Given the description of an element on the screen output the (x, y) to click on. 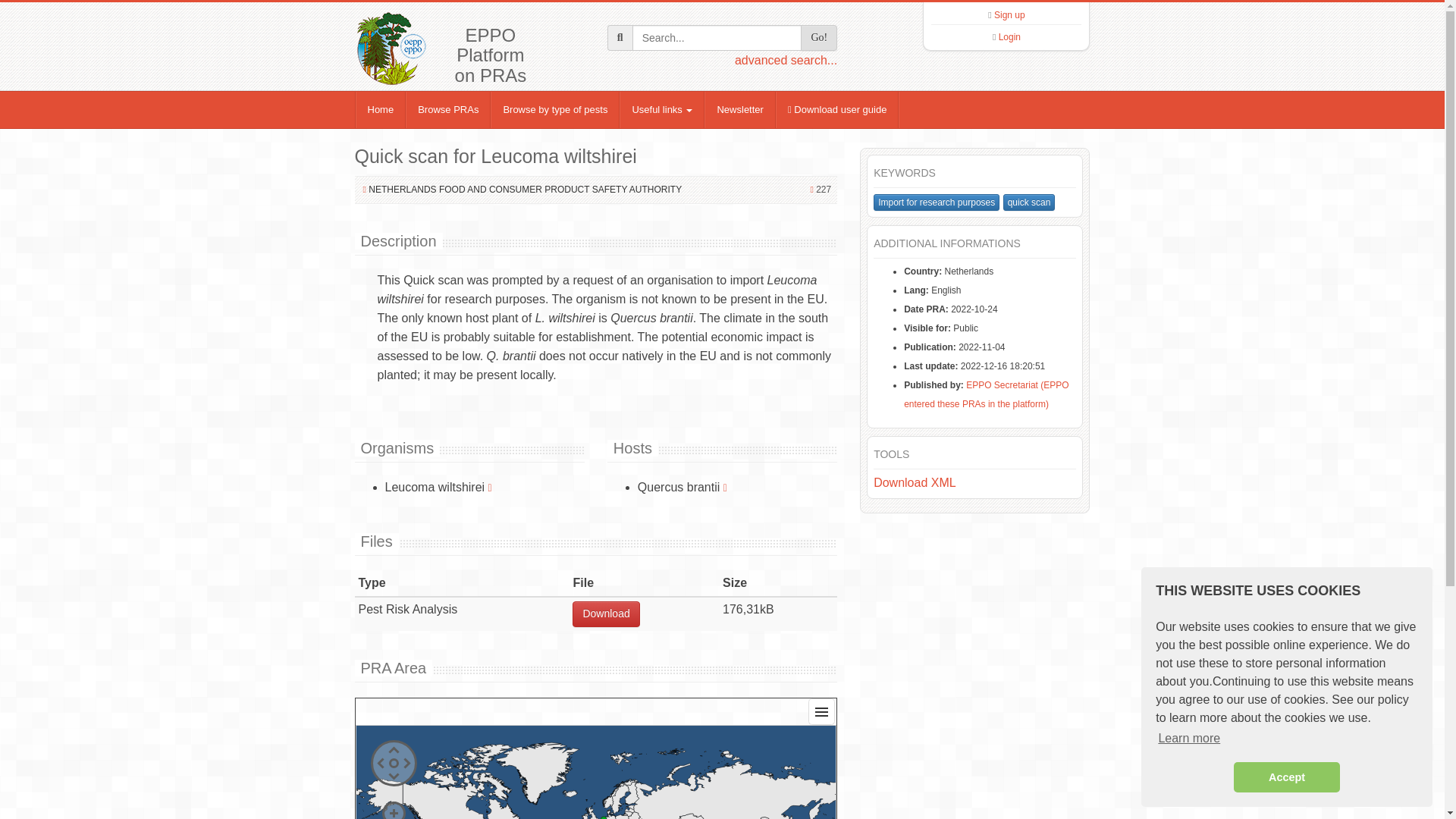
Sign up (1009, 14)
Login (1009, 36)
Download XML (914, 481)
Home (380, 109)
advanced search... (786, 60)
Go! (818, 37)
Accept (1286, 777)
quick scan (1029, 202)
Useful links (662, 109)
View other PRAs (489, 486)
Newsletter (739, 109)
Import for research purposes (935, 202)
Learn more (1189, 738)
quick-scan-leucoma-wiltshirei.pdf (605, 614)
View other PRAs (724, 486)
